Given the description of an element on the screen output the (x, y) to click on. 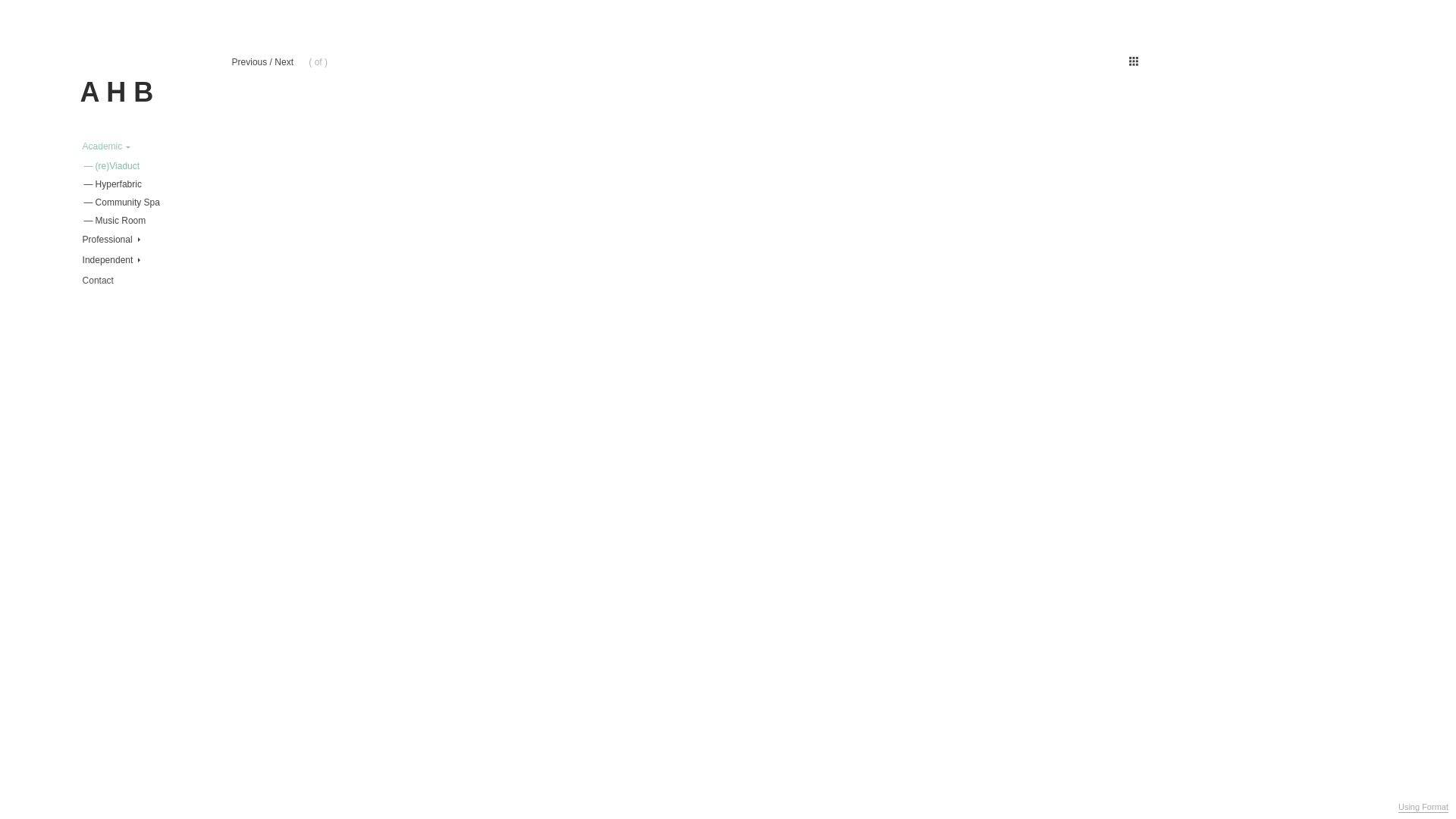
Next Element type: text (283, 61)
Contact Element type: text (98, 280)
Independent Element type: text (111, 260)
A H B Element type: text (116, 91)
Academic Element type: text (105, 146)
Using Format Element type: text (1423, 807)
Professional Element type: text (110, 239)
Previous Element type: text (249, 61)
